Given the description of an element on the screen output the (x, y) to click on. 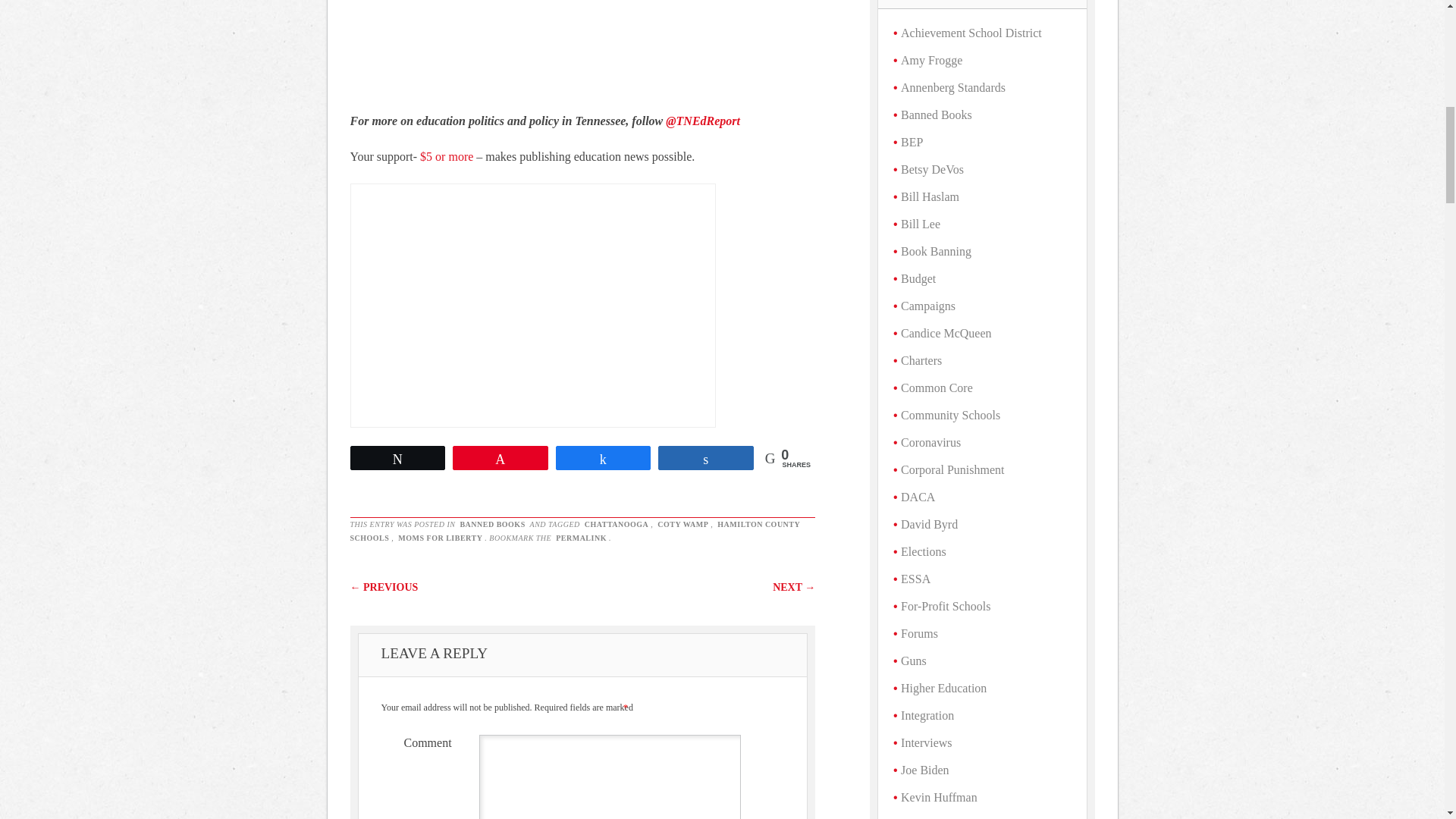
HAMILTON COUNTY SCHOOLS (574, 531)
Amy Frogge (931, 60)
Annenberg Standards (953, 87)
CHATTANOOGA (616, 524)
BANNED BOOKS (492, 524)
Permalink to Lock Them Up?! (580, 537)
PERMALINK (580, 537)
Achievement School District (971, 32)
COTY WAMP (682, 524)
MOMS FOR LIBERTY (440, 537)
